Given the description of an element on the screen output the (x, y) to click on. 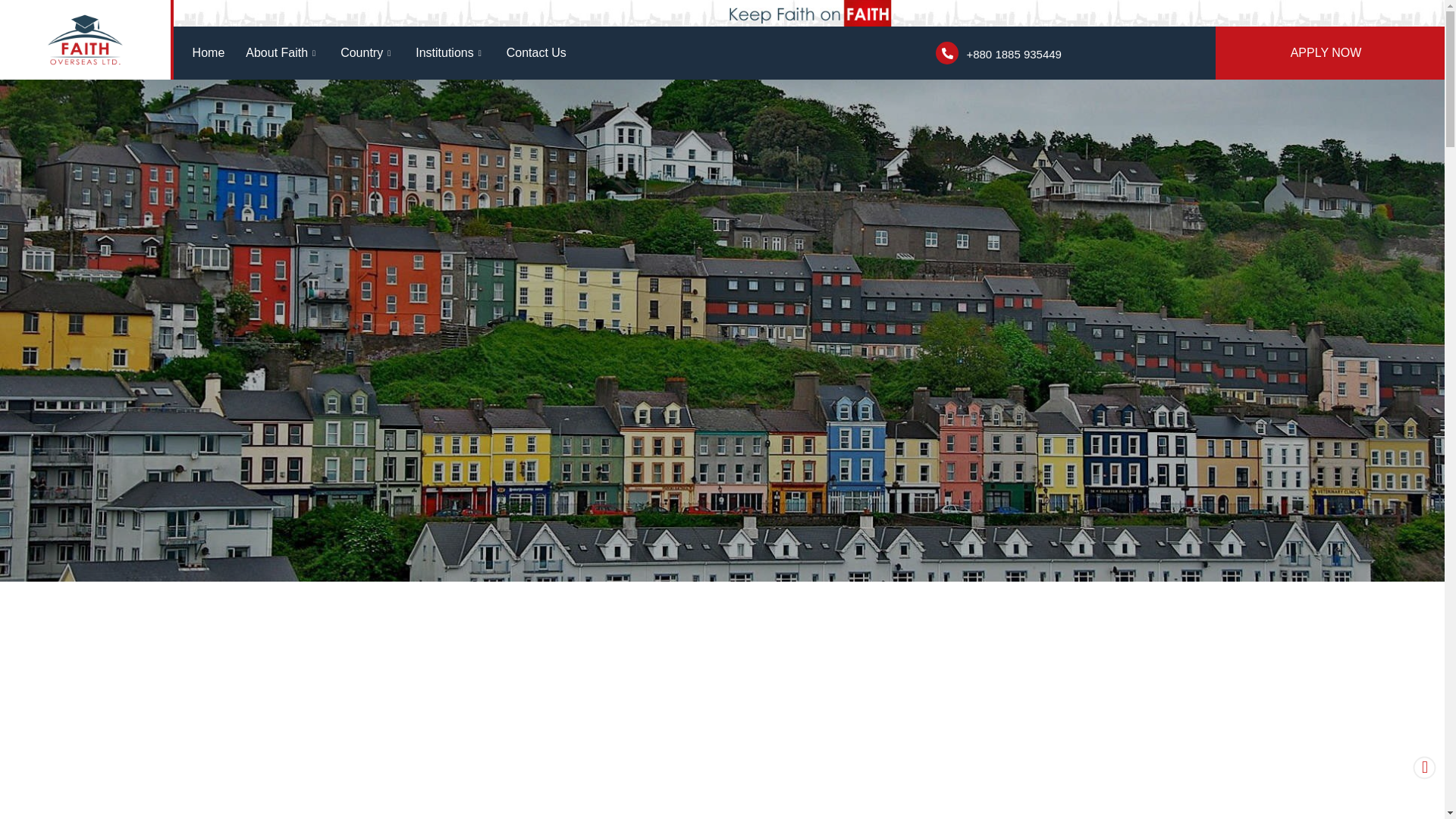
About Faith (282, 53)
Home (208, 53)
Country (367, 53)
